Given the description of an element on the screen output the (x, y) to click on. 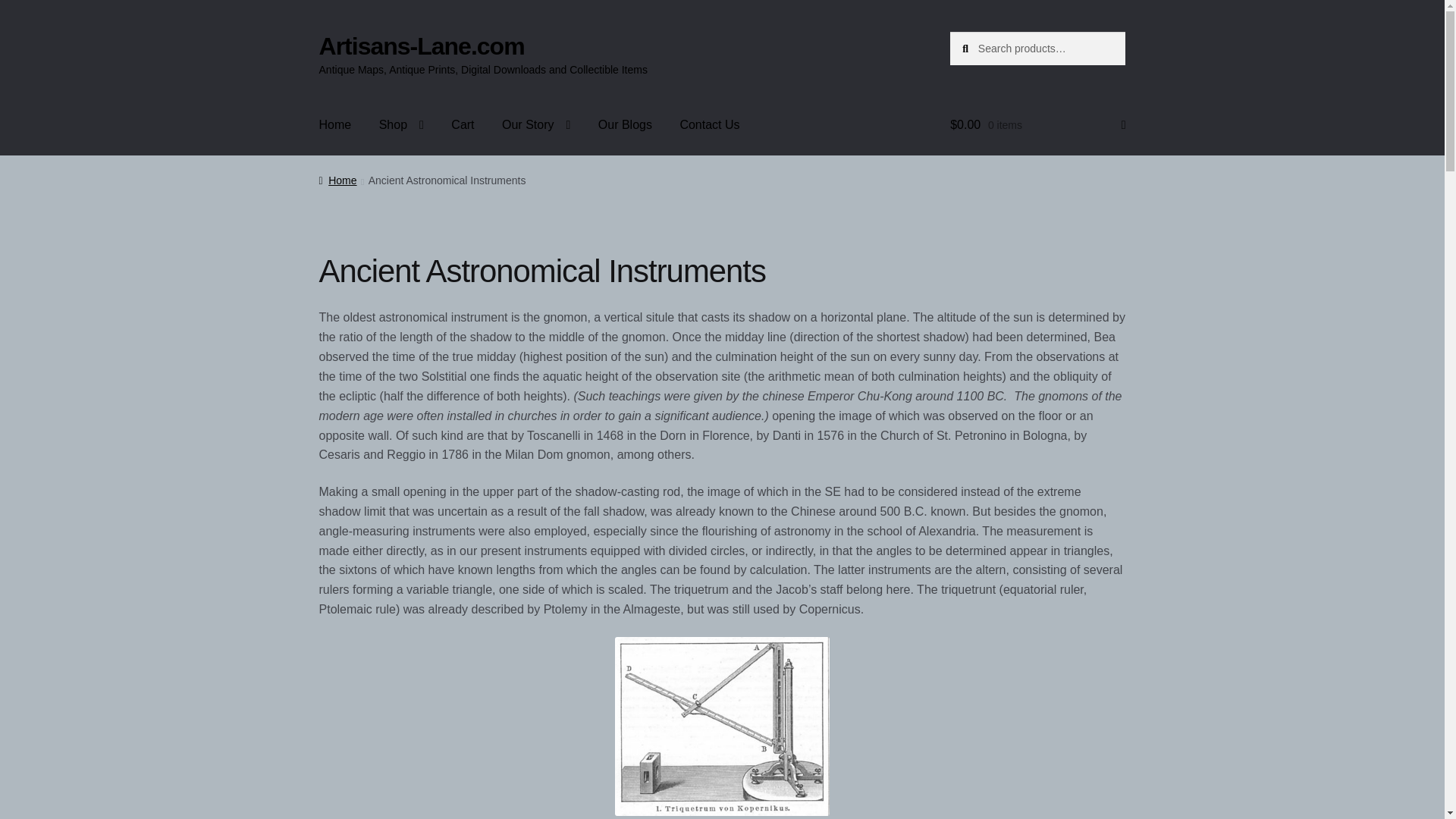
Shop (400, 124)
Artisans-Lane.com (421, 45)
Home (337, 180)
Contact Us (708, 124)
Our Story (535, 124)
Our Blogs (624, 124)
View your shopping cart (1037, 124)
Home (335, 124)
